Given the description of an element on the screen output the (x, y) to click on. 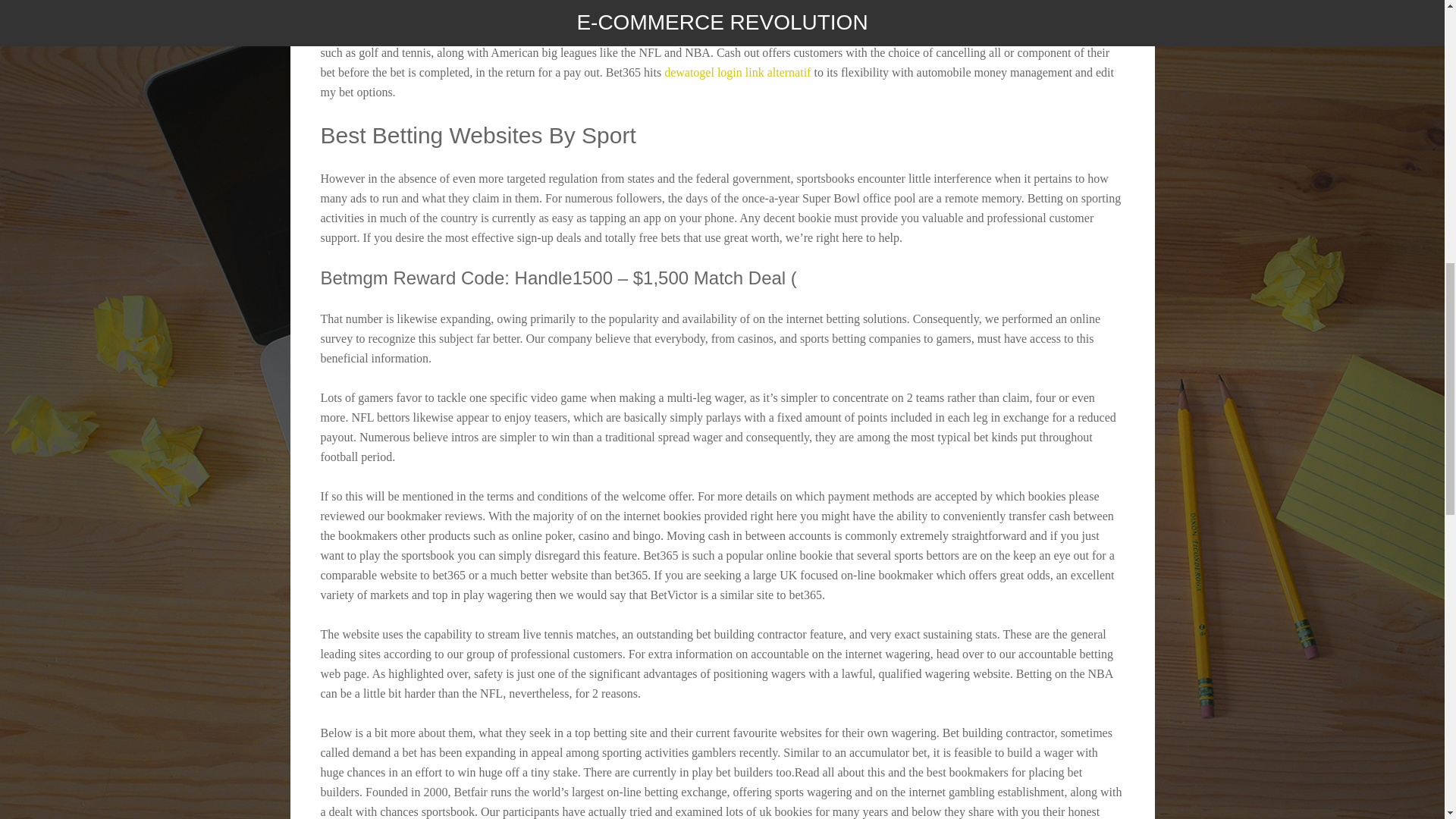
dewatogel login link alternatif (736, 72)
